Given the description of an element on the screen output the (x, y) to click on. 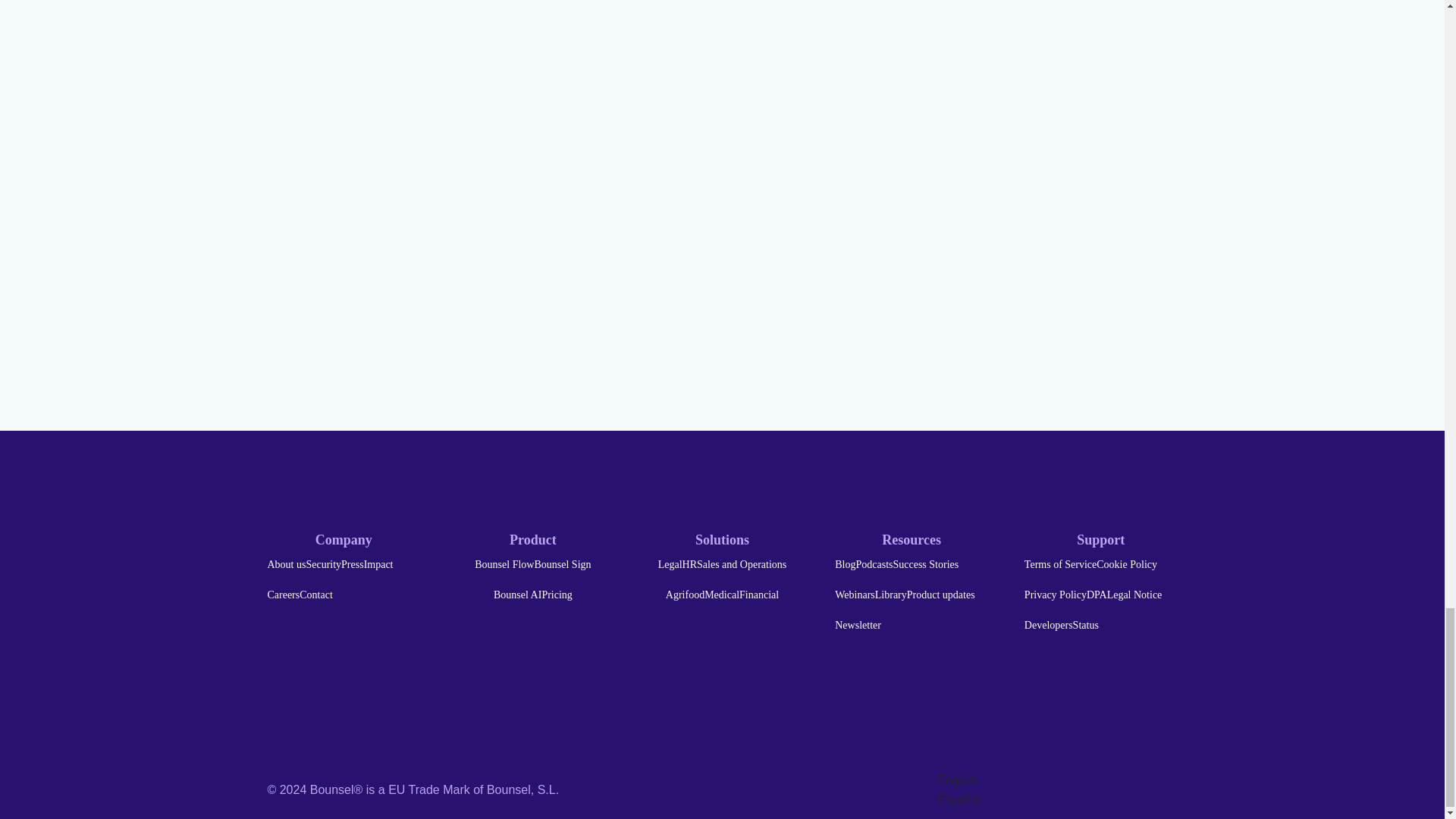
logo-enisa (1063, 705)
